Given the description of an element on the screen output the (x, y) to click on. 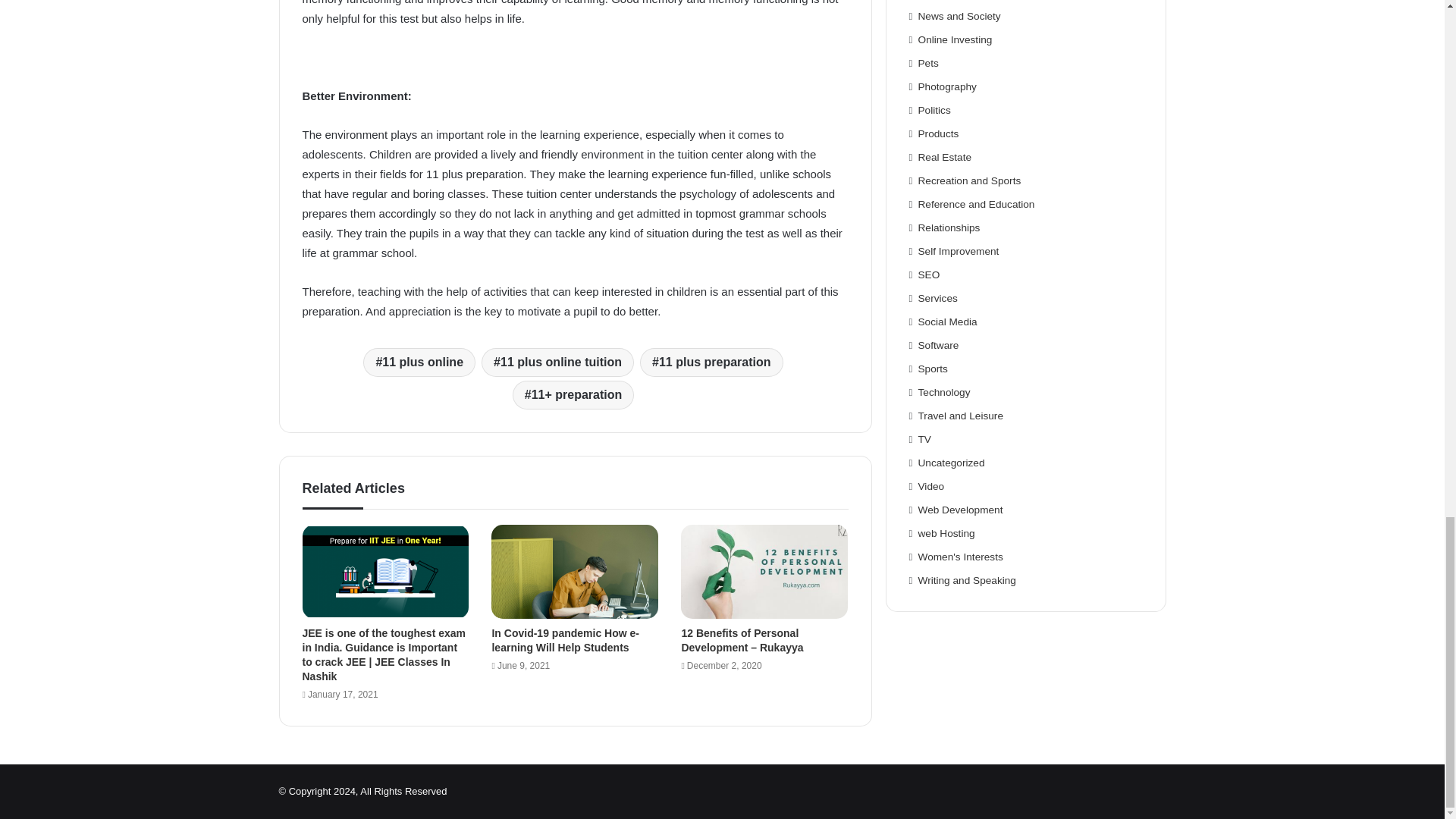
11 plus online (419, 362)
11 plus online tuition (557, 362)
11 plus preparation (711, 362)
